Given the description of an element on the screen output the (x, y) to click on. 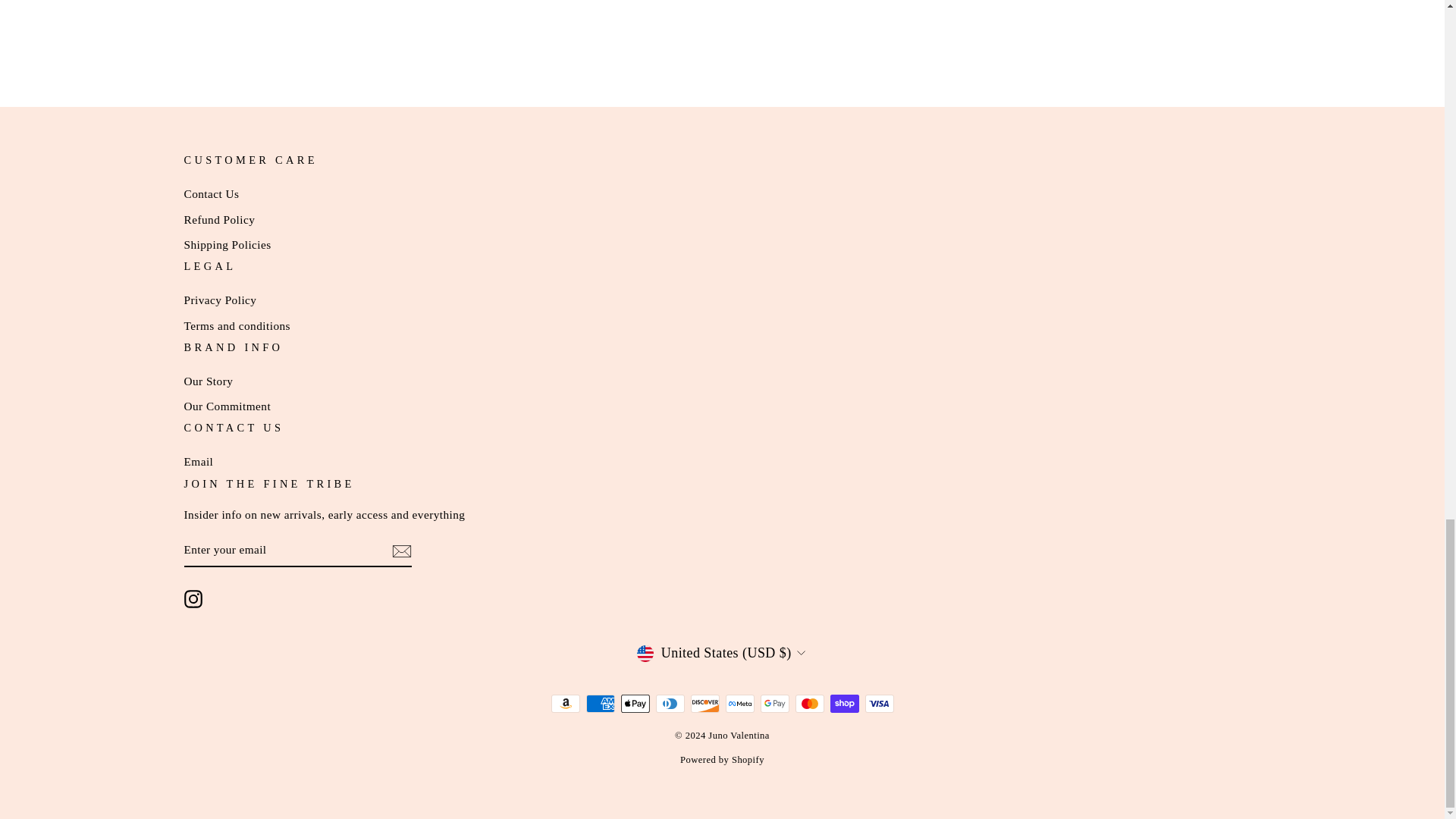
Google Pay (774, 703)
Juno Valentina on Instagram (192, 598)
Amazon (564, 703)
Meta Pay (739, 703)
Mastercard (809, 703)
Apple Pay (634, 703)
Shop Pay (844, 703)
American Express (599, 703)
Visa (878, 703)
Discover (704, 703)
Diners Club (669, 703)
